Given the description of an element on the screen output the (x, y) to click on. 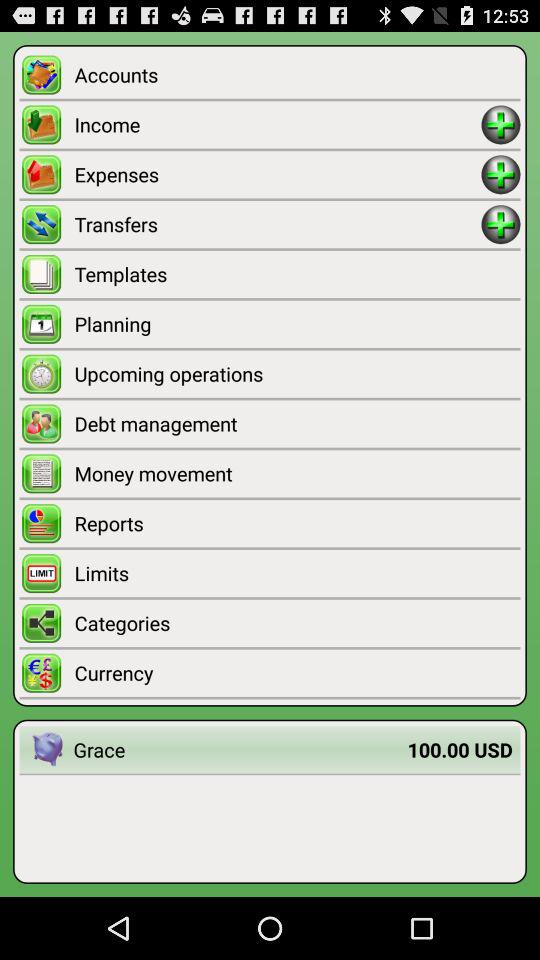
press icon below the currency app (240, 749)
